Given the description of an element on the screen output the (x, y) to click on. 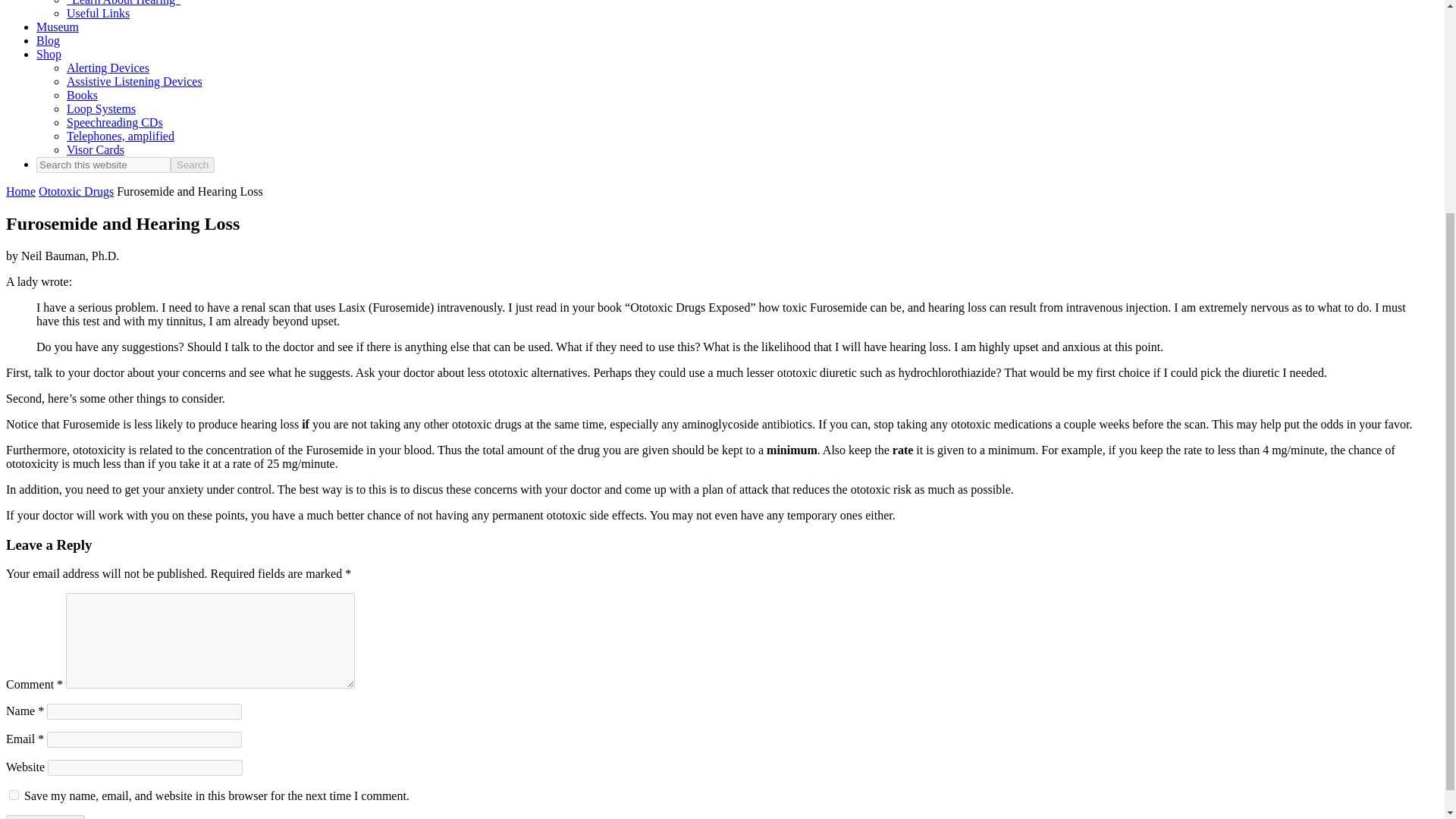
Speechreading CDs (114, 122)
Loop Systems (100, 108)
Visor Cards (94, 149)
Alerting Devices (107, 67)
Books (81, 94)
Museum (57, 26)
Home (19, 191)
Search (192, 164)
Useful Links (97, 12)
Assistive Listening Devices (134, 81)
